Given the description of an element on the screen output the (x, y) to click on. 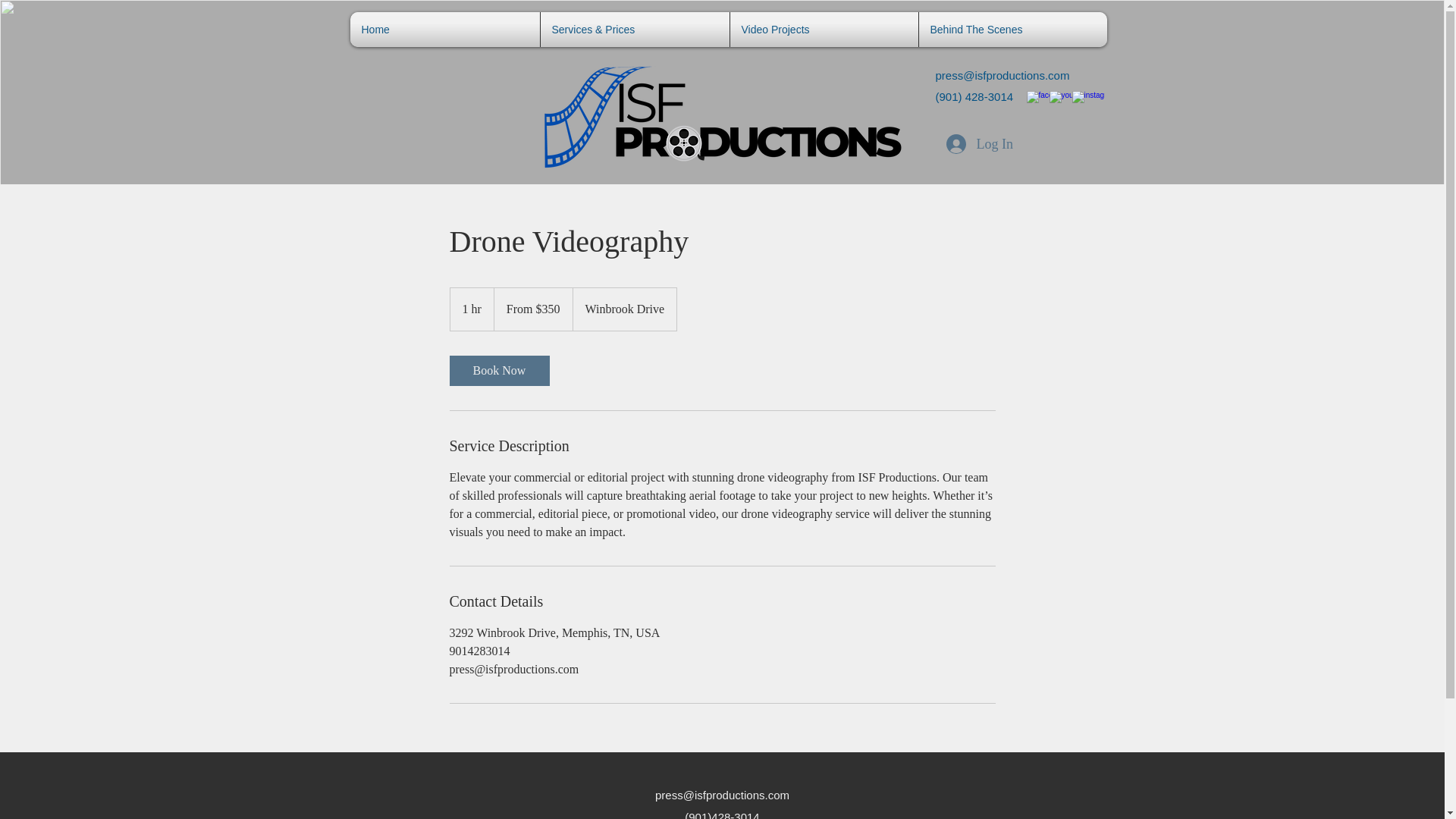
Behind The Scenes (1011, 29)
Log In (966, 144)
Video Projects (823, 29)
Book Now (498, 370)
Home (444, 29)
